Given the description of an element on the screen output the (x, y) to click on. 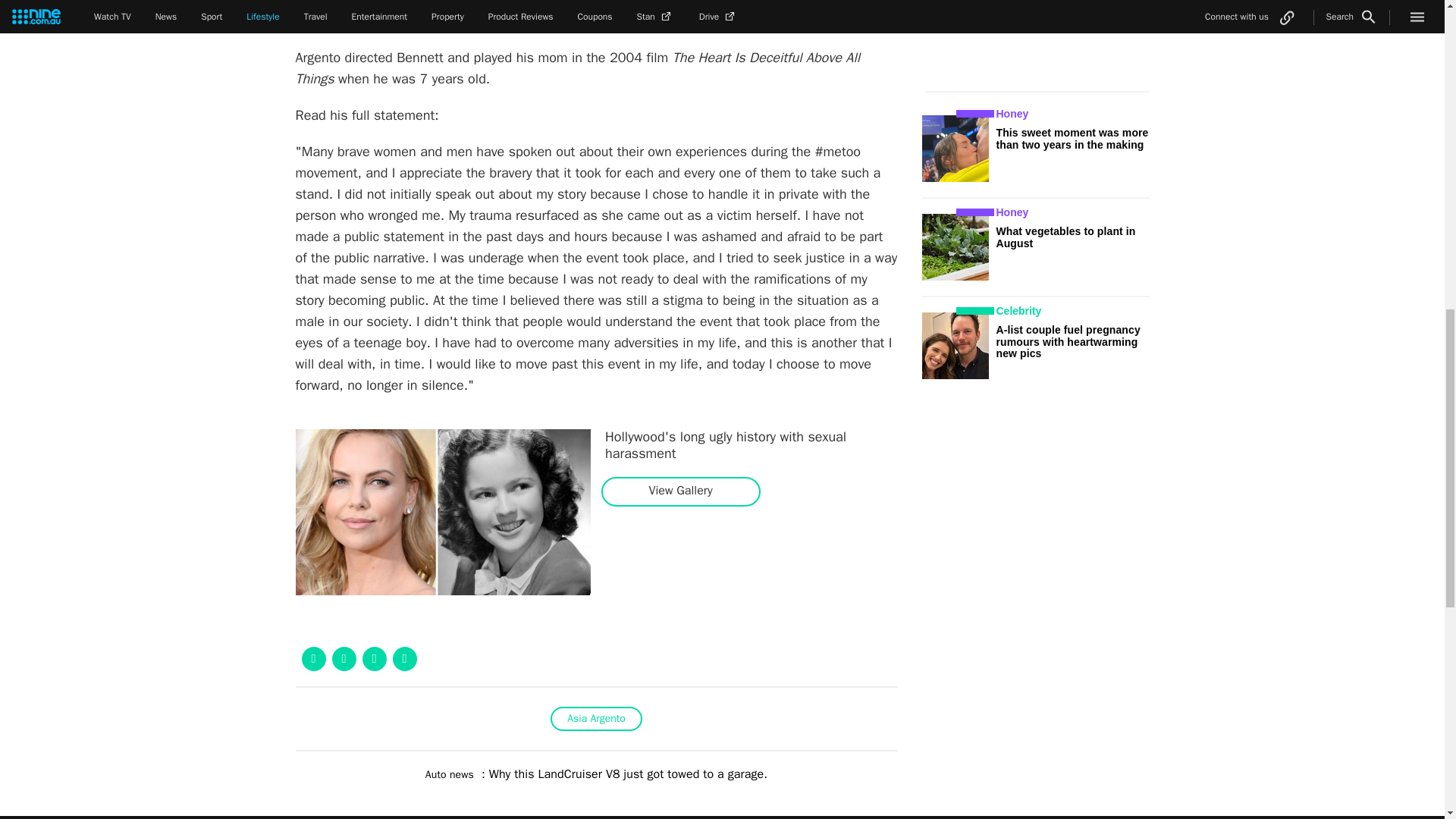
View Gallery (680, 490)
